Given the description of an element on the screen output the (x, y) to click on. 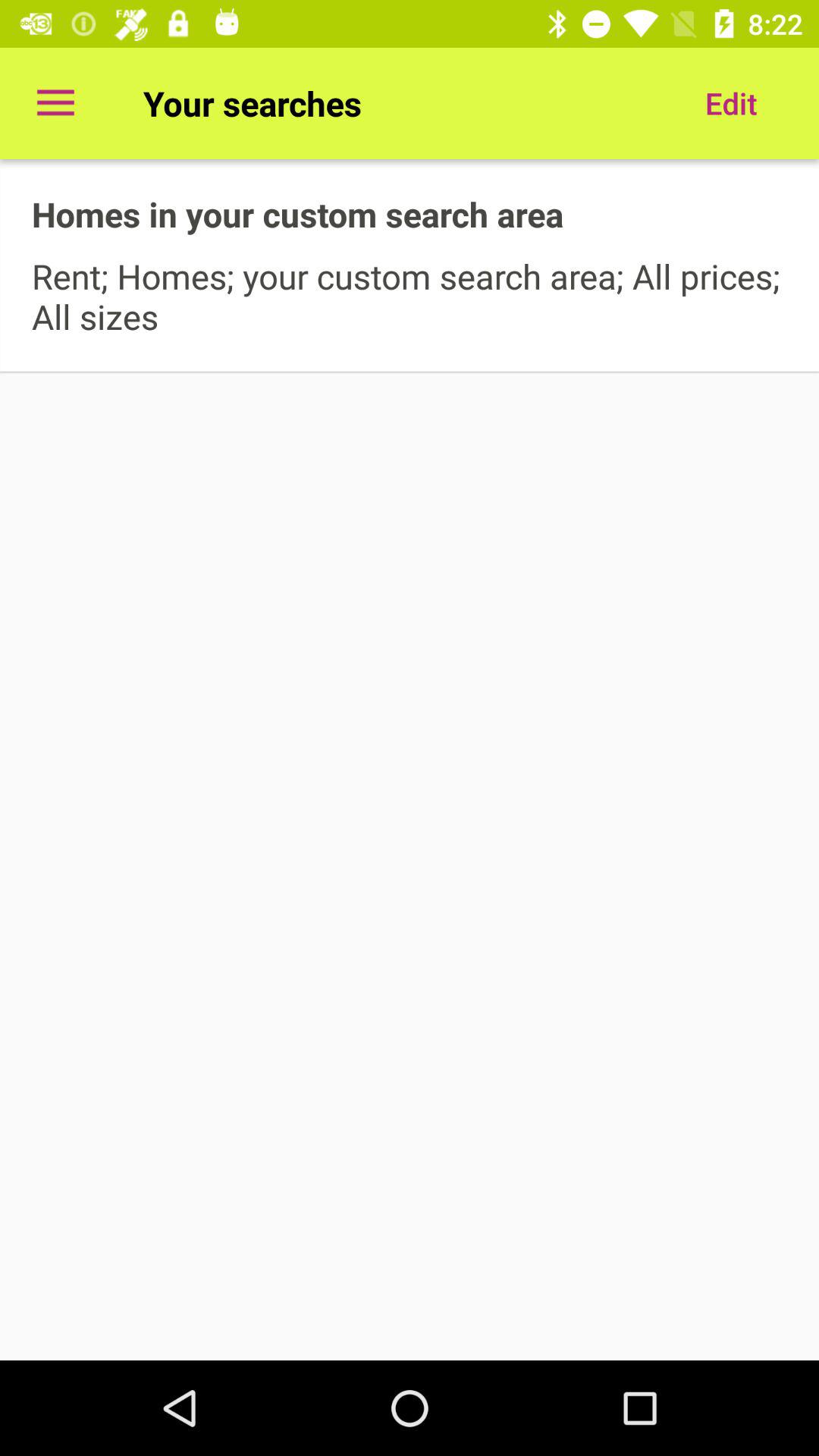
choose item next to the your searches item (731, 103)
